Given the description of an element on the screen output the (x, y) to click on. 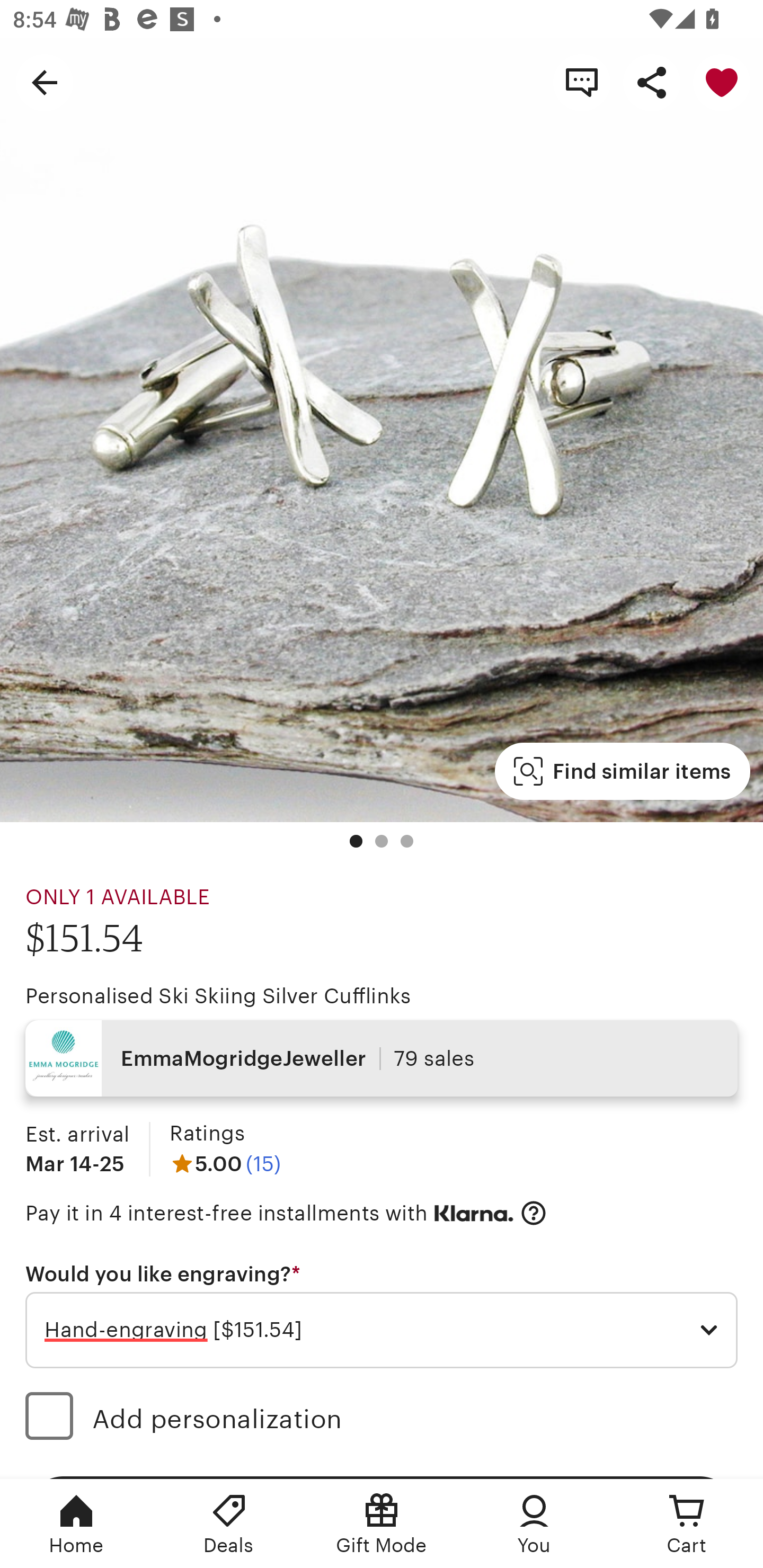
Navigate up (44, 81)
Contact shop (581, 81)
Share (651, 81)
Find similar items (622, 771)
Personalised Ski Skiing Silver Cufflinks (218, 996)
EmmaMogridgeJeweller 79 sales (381, 1058)
Ratings (206, 1133)
5.00 (15) (225, 1163)
Hand-engraving [$151.54] (381, 1330)
Add personalization (optional) Add personalization (381, 1418)
Deals (228, 1523)
Gift Mode (381, 1523)
You (533, 1523)
Cart (686, 1523)
